Given the description of an element on the screen output the (x, y) to click on. 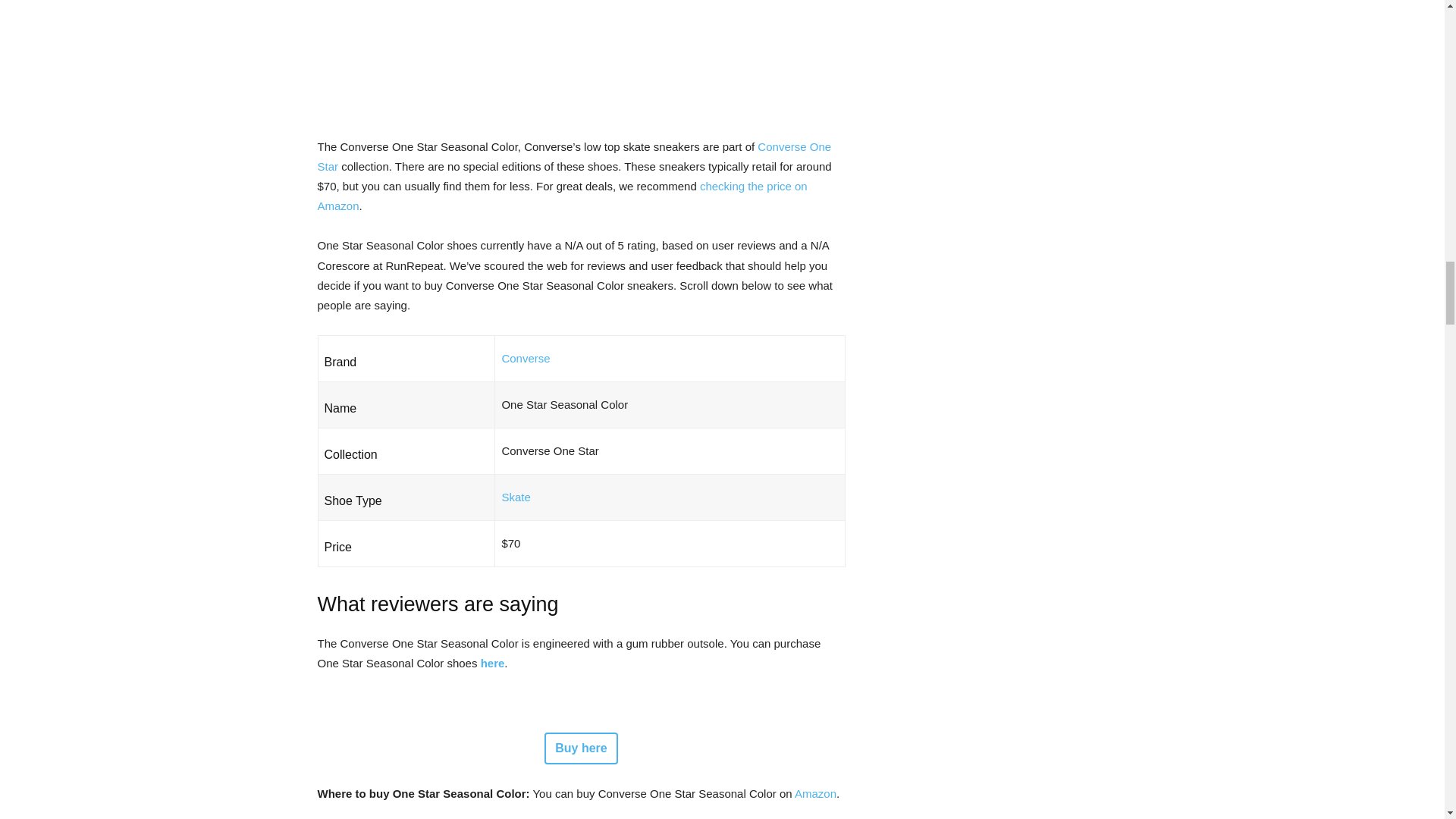
Converse (525, 358)
Best Skate shoes (514, 496)
here (492, 662)
Converse One Star collection (574, 156)
Amazon (814, 793)
Skate (514, 496)
Best Converse shoes (525, 358)
buy One Star Seasonal Color (492, 662)
Converse One Star (574, 156)
Buy here (580, 748)
